Given the description of an element on the screen output the (x, y) to click on. 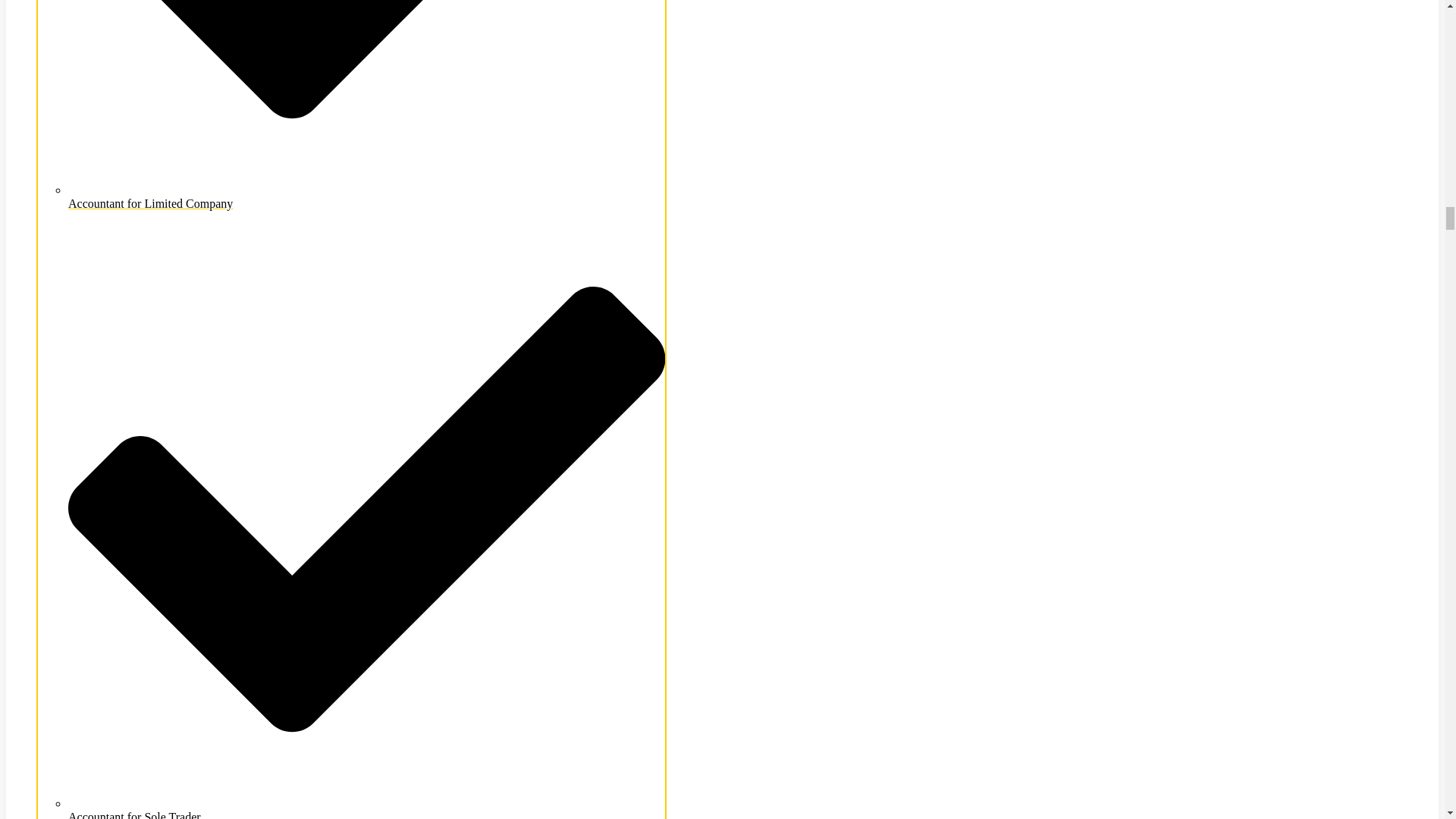
Accountant for Limited Company (366, 196)
Accountant for Sole Trader (366, 807)
